Given the description of an element on the screen output the (x, y) to click on. 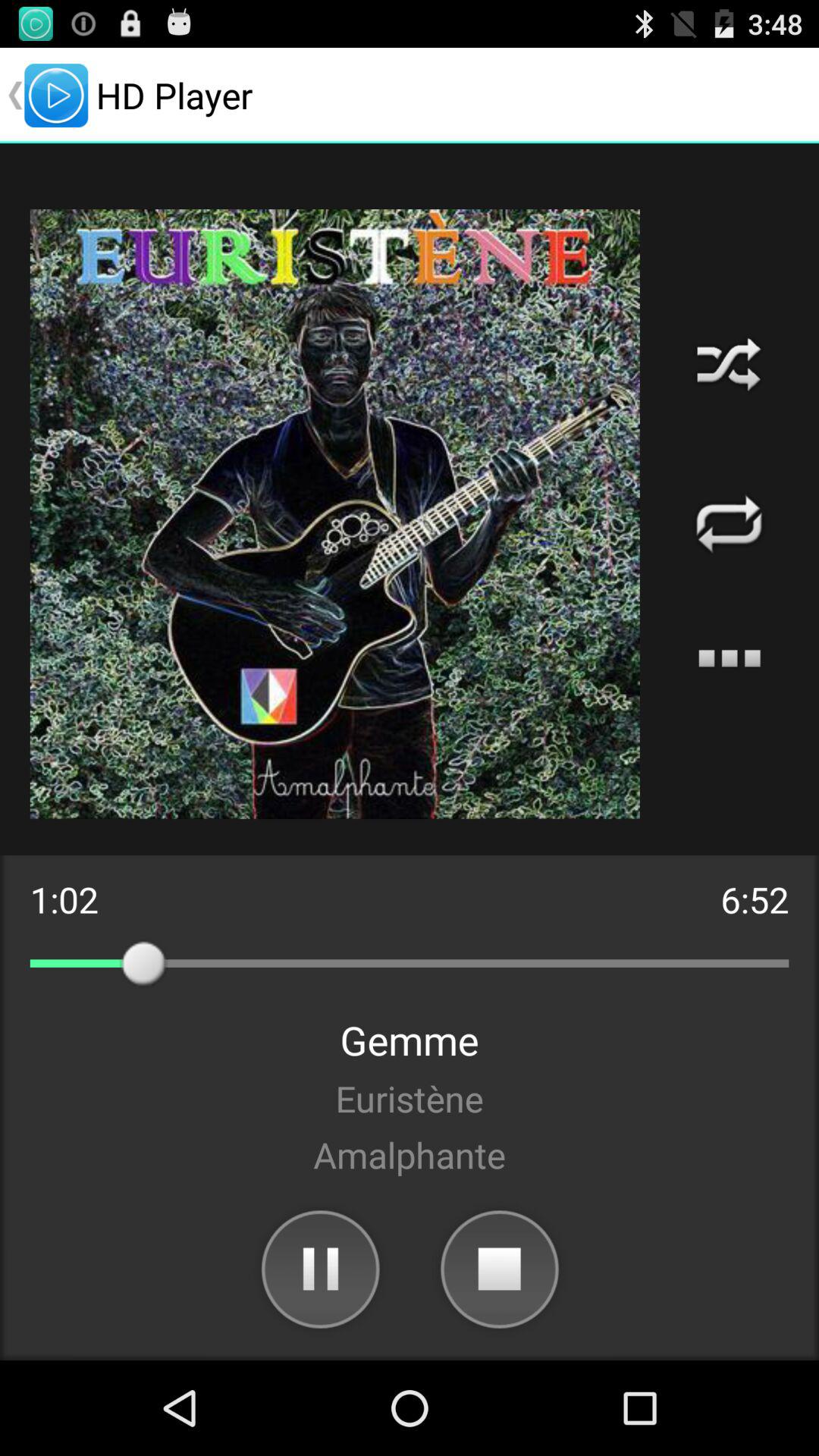
turn on the 1:02 icon (64, 899)
